Given the description of an element on the screen output the (x, y) to click on. 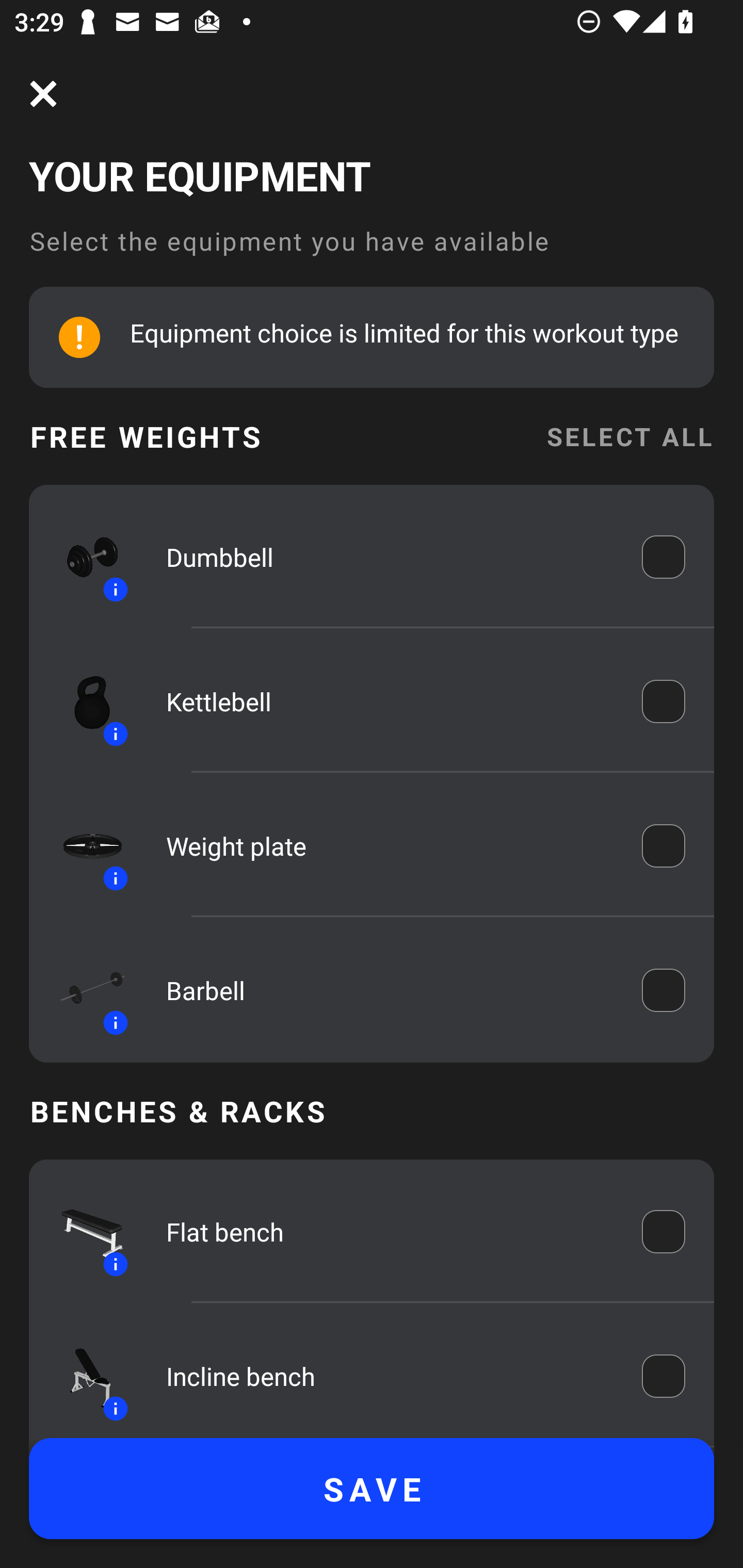
Navigation icon (43, 93)
SELECT ALL (629, 436)
Equipment icon Information icon (82, 557)
Dumbbell (389, 557)
Equipment icon Information icon (82, 701)
Kettlebell (389, 701)
Equipment icon Information icon (82, 845)
Weight plate (389, 845)
Equipment icon Information icon (82, 990)
Barbell (389, 990)
Equipment icon Information icon (82, 1231)
Flat bench (389, 1231)
Equipment icon Information icon (82, 1375)
Incline bench (389, 1375)
SAVE (371, 1488)
